Given the description of an element on the screen output the (x, y) to click on. 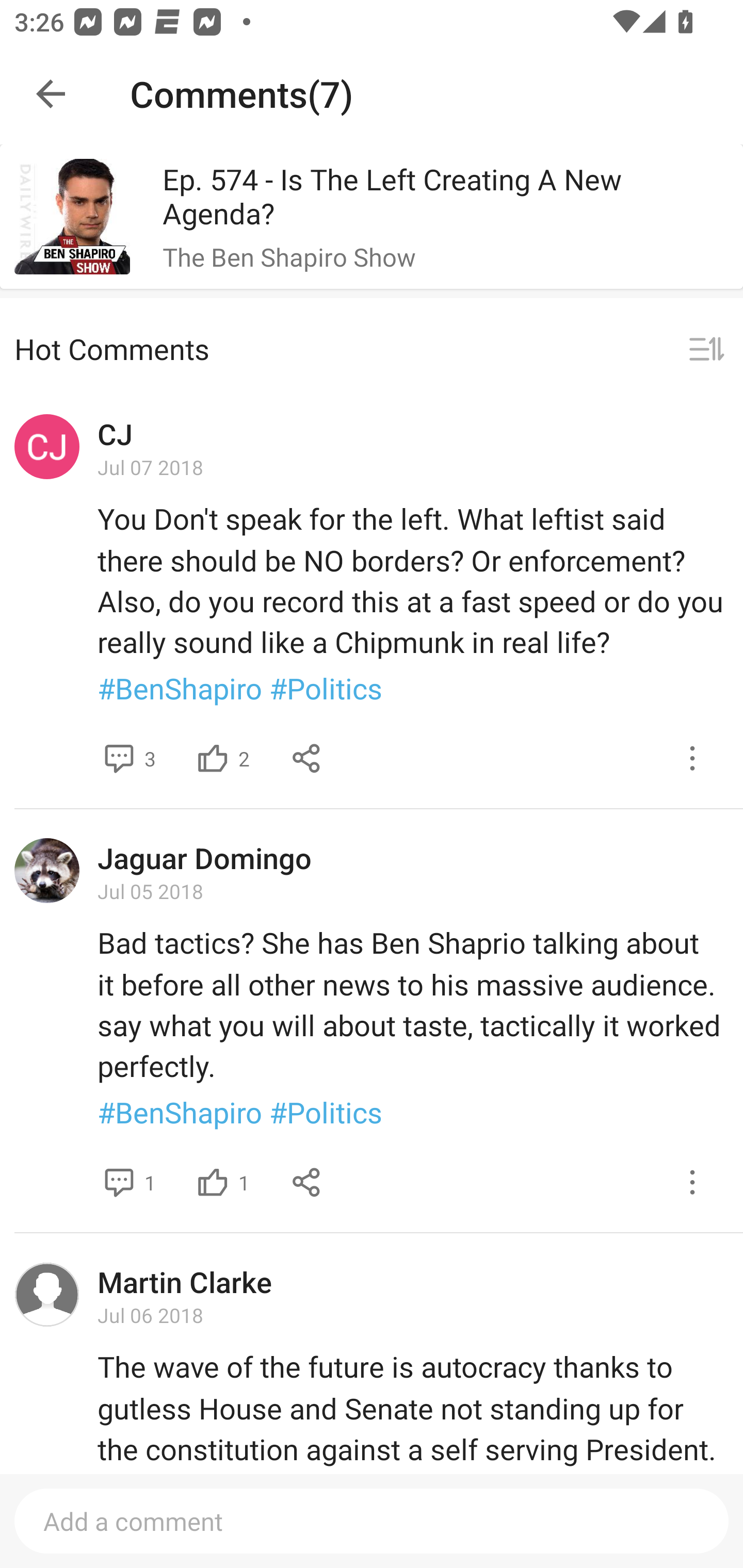
Navigate up (50, 93)
 (706, 349)
 (119, 758)
 (212, 758)
 (307, 758)
 (692, 758)
 (119, 1182)
 (212, 1182)
 (307, 1182)
 (692, 1182)
Add a comment (371, 1520)
